Given the description of an element on the screen output the (x, y) to click on. 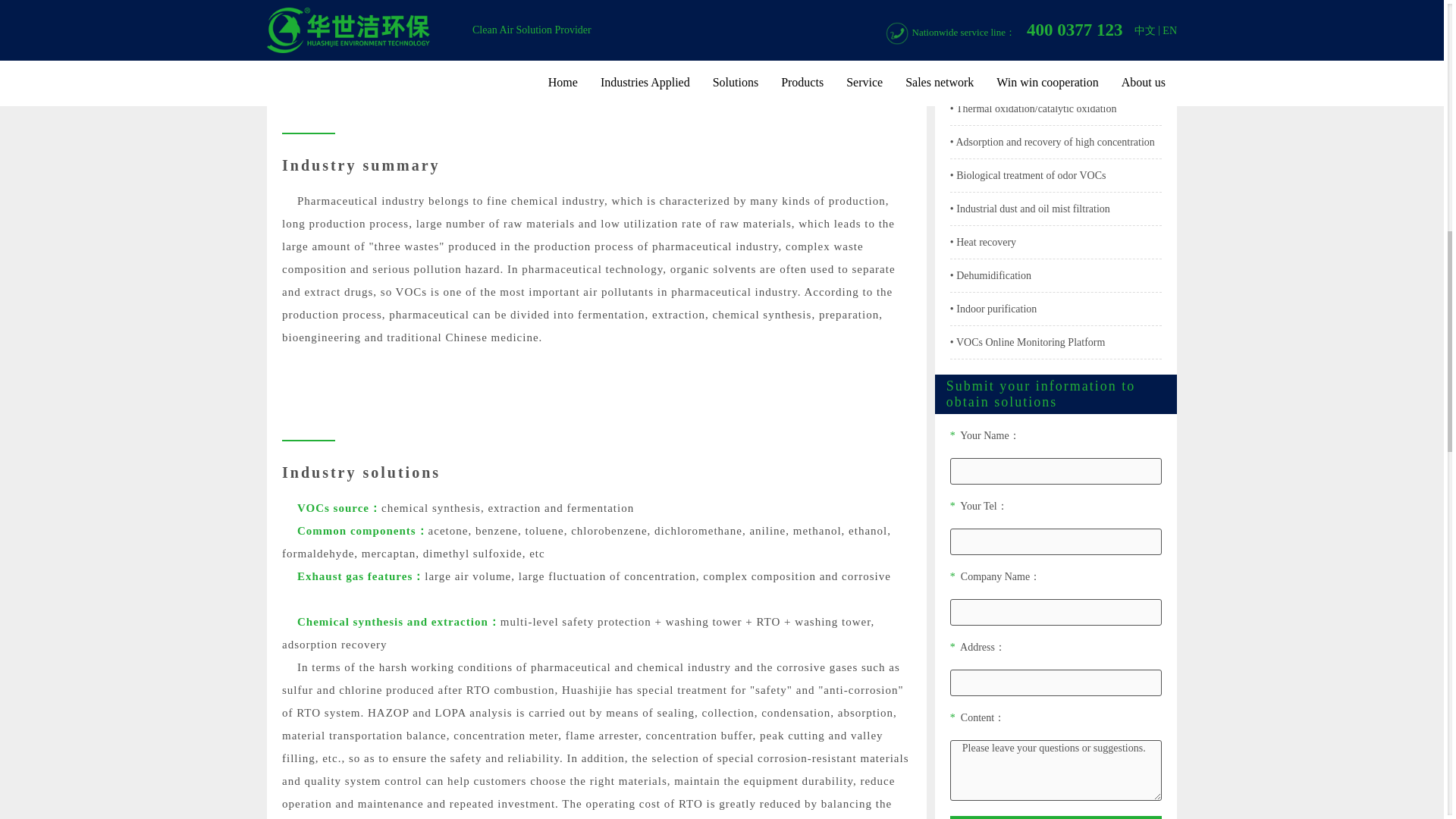
Submit (1055, 817)
